Given the description of an element on the screen output the (x, y) to click on. 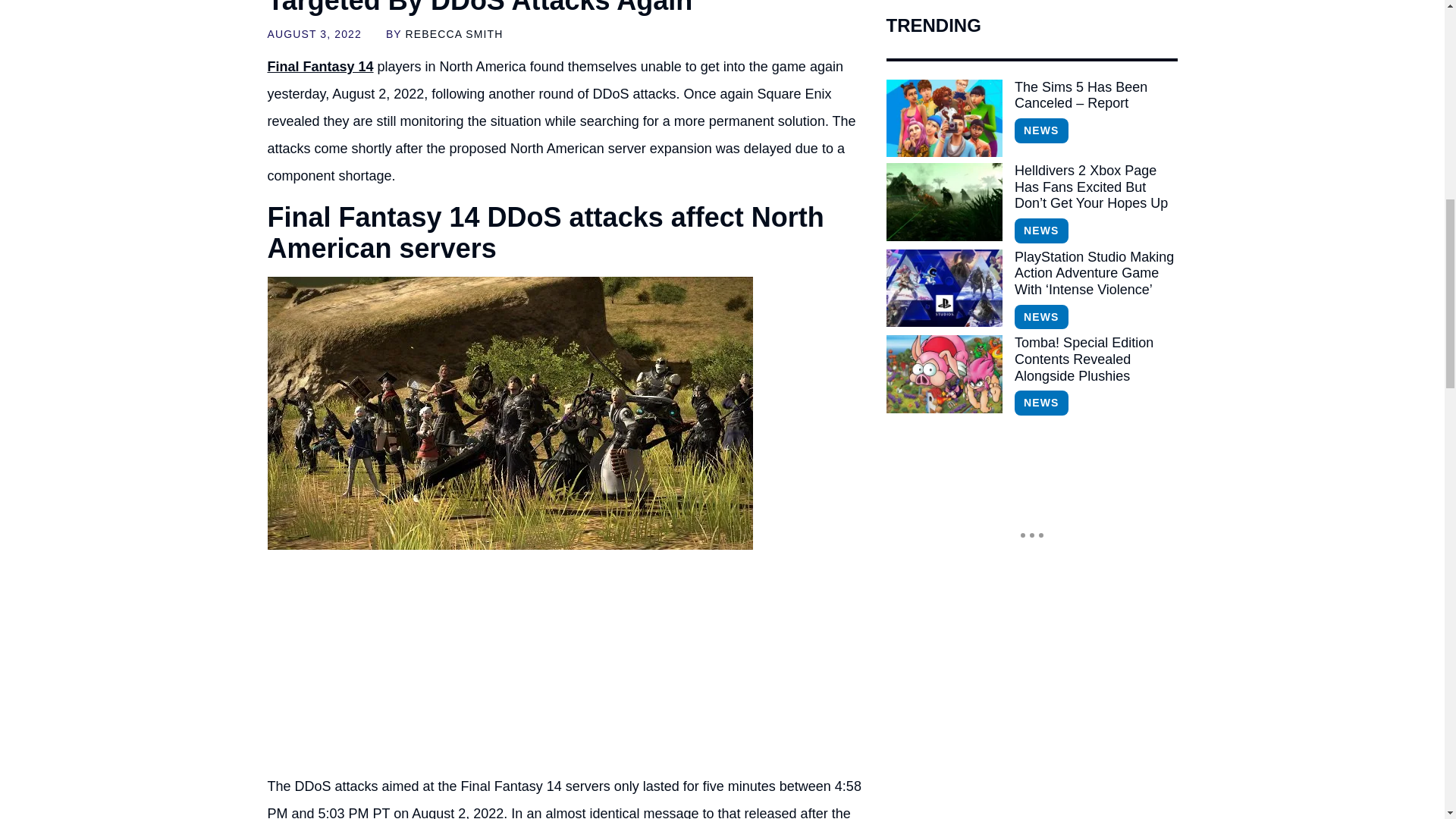
NEWS (1040, 130)
Tomba! Special Edition Contents Revealed Alongside Plushies (1095, 359)
almost identical message (621, 812)
3rd party ad content (566, 665)
REBECCA SMITH (454, 33)
Tomba! Special Edition Contents Revealed Alongside Plushies (944, 373)
Final Fantasy 14 (319, 66)
NEWS (1040, 230)
